Given the description of an element on the screen output the (x, y) to click on. 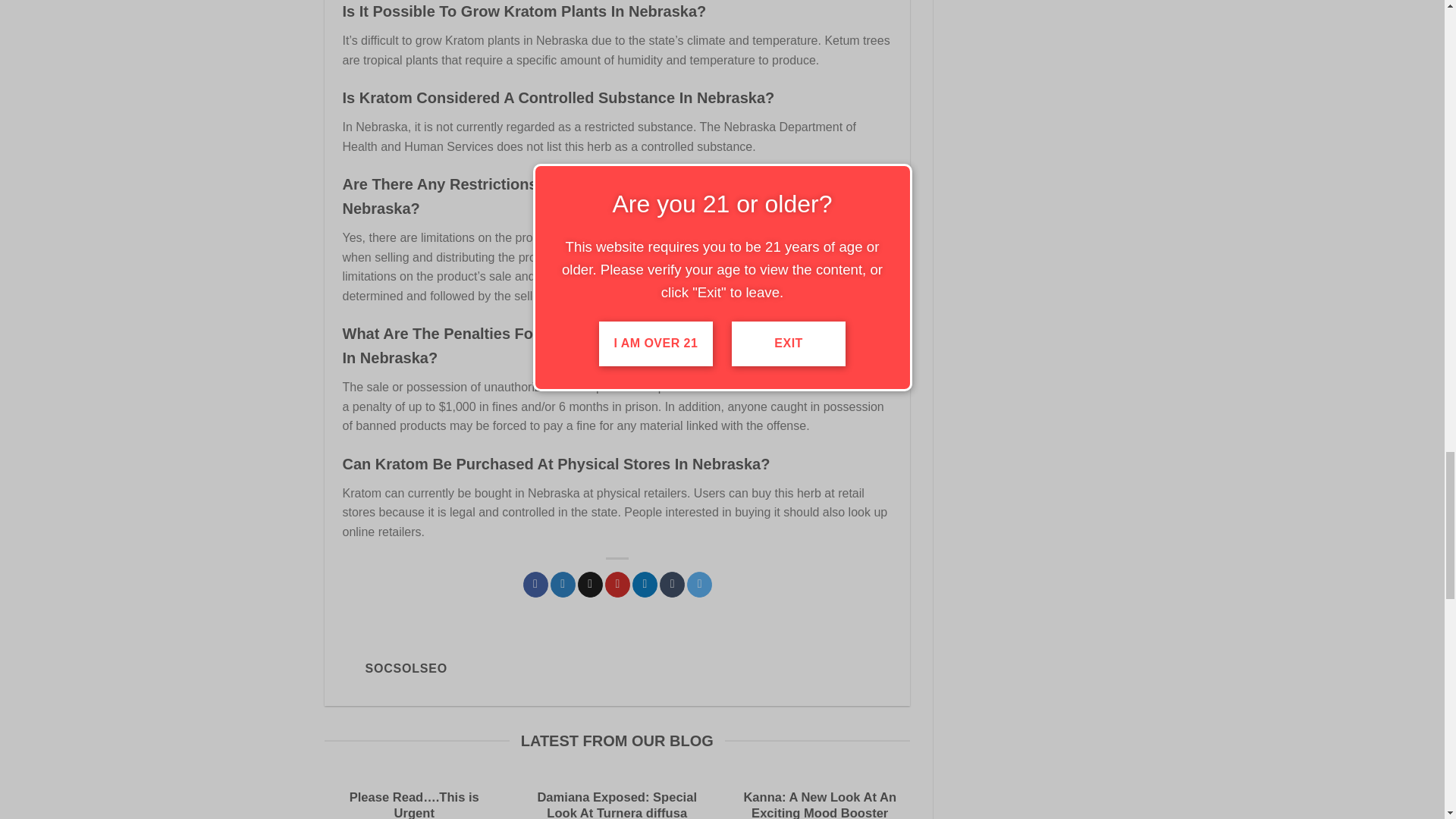
Pin on Pinterest (617, 584)
Share on LinkedIn (644, 584)
Share on Tumblr (671, 584)
Share on Facebook (535, 584)
Share on Twitter (562, 584)
Share on Telegram (699, 584)
Email to a Friend (590, 584)
